Given the description of an element on the screen output the (x, y) to click on. 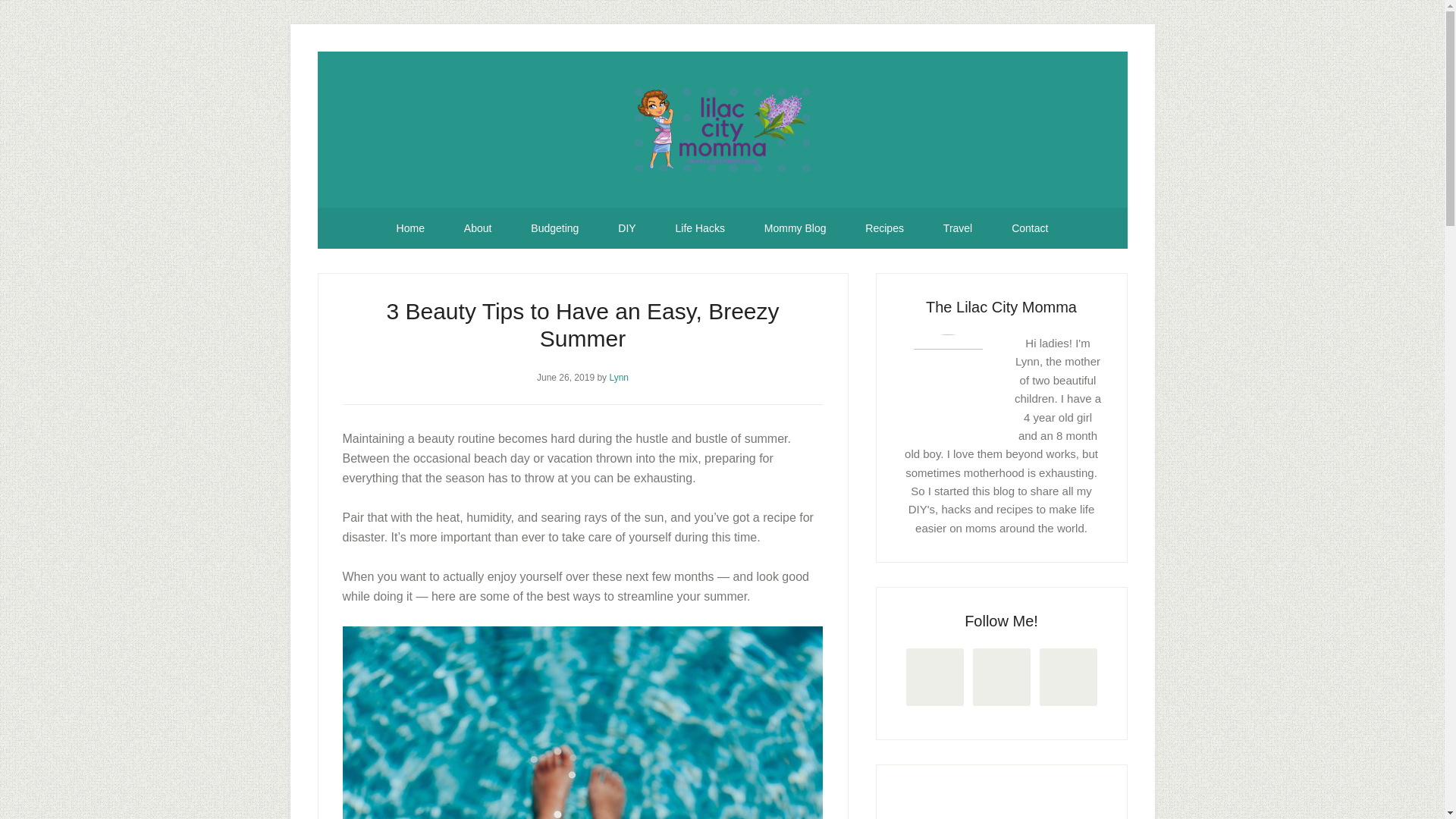
Lynn (618, 377)
Lilac City Momma (721, 129)
Contact (1028, 228)
About (478, 228)
Life Hacks (700, 228)
Recipes (884, 228)
Budgeting (554, 228)
Home (410, 228)
DIY (626, 228)
